Given the description of an element on the screen output the (x, y) to click on. 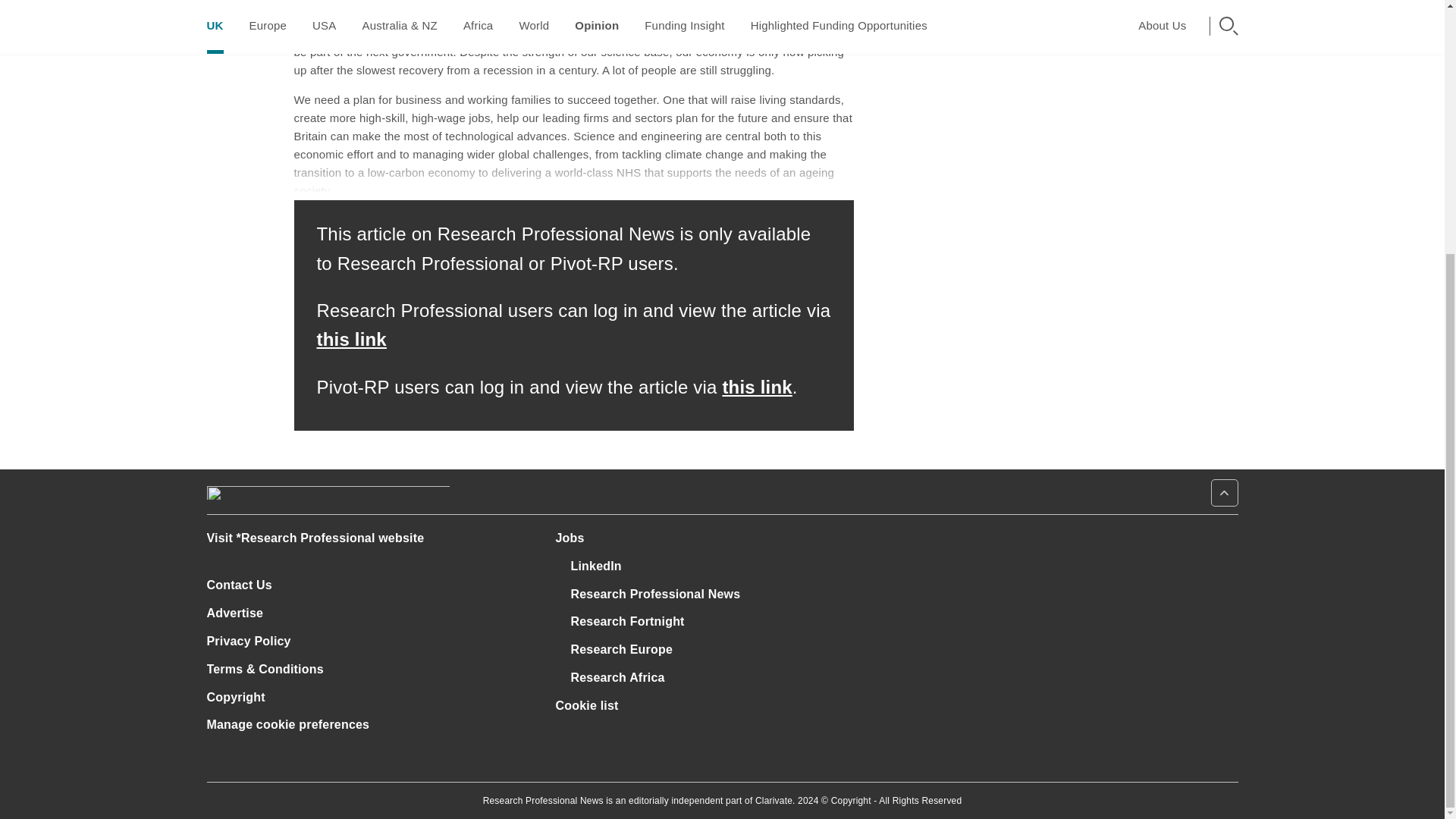
this link (757, 386)
Manage cookies (287, 724)
Advertise (241, 612)
Copyright (235, 697)
Manage cookie preferences (287, 724)
Privacy Policy (255, 640)
Contact Us (245, 584)
this link (352, 339)
